Given the description of an element on the screen output the (x, y) to click on. 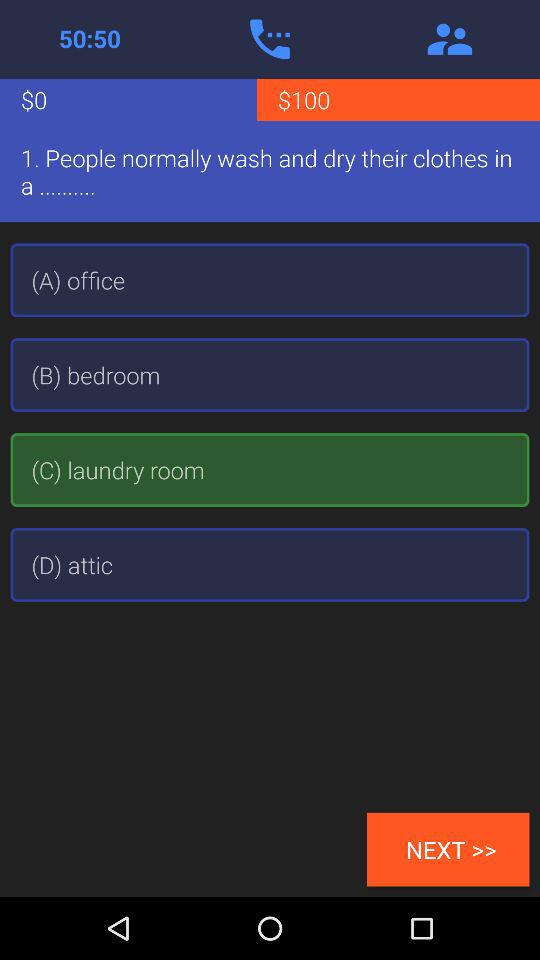
go to friends (450, 39)
